Given the description of an element on the screen output the (x, y) to click on. 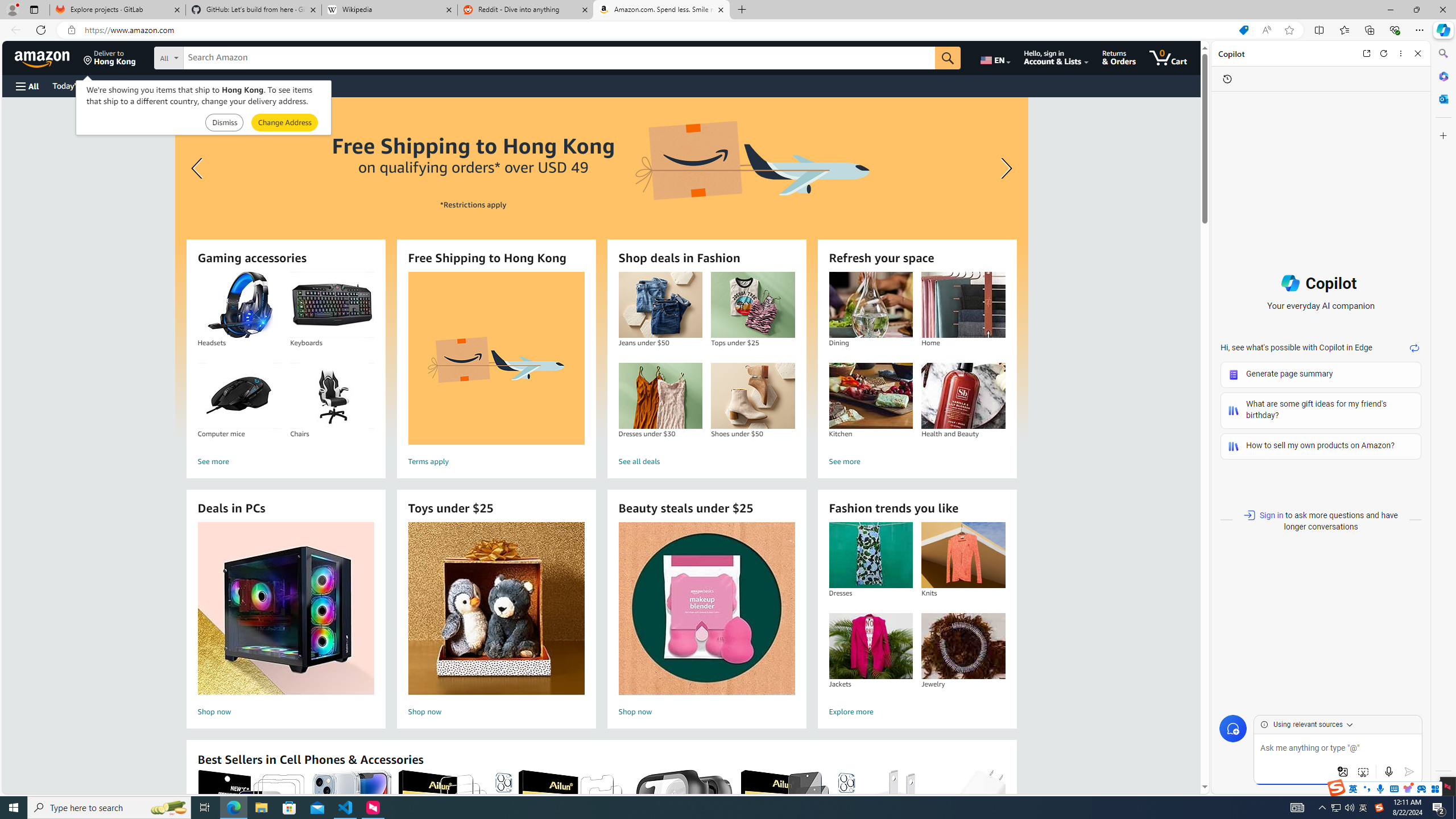
Next slide (1003, 168)
Tops under $25 (753, 304)
Jackets (870, 645)
Health and Beauty (963, 395)
Dresses (870, 555)
